Given the description of an element on the screen output the (x, y) to click on. 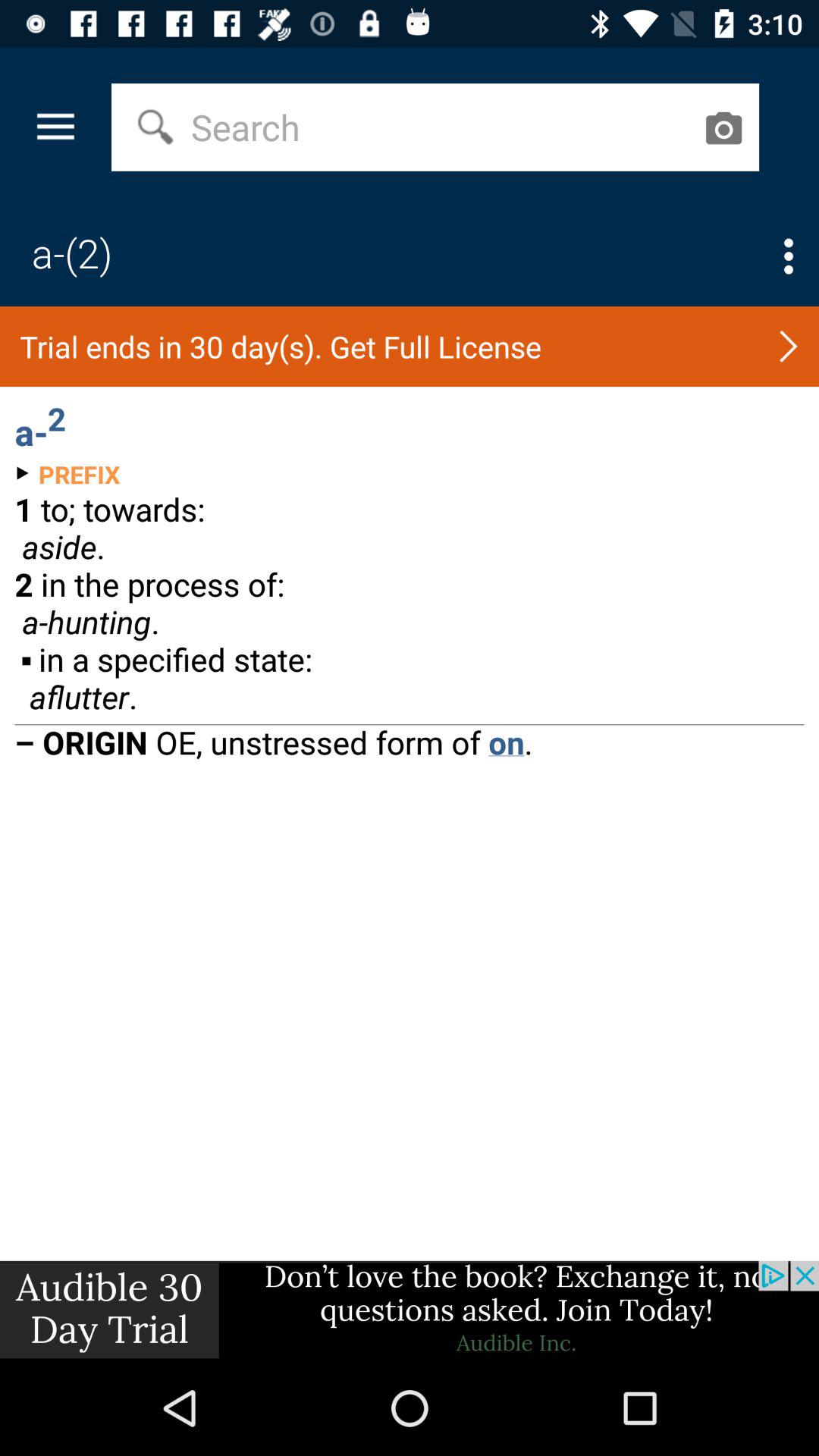
camera button (723, 127)
